Given the description of an element on the screen output the (x, y) to click on. 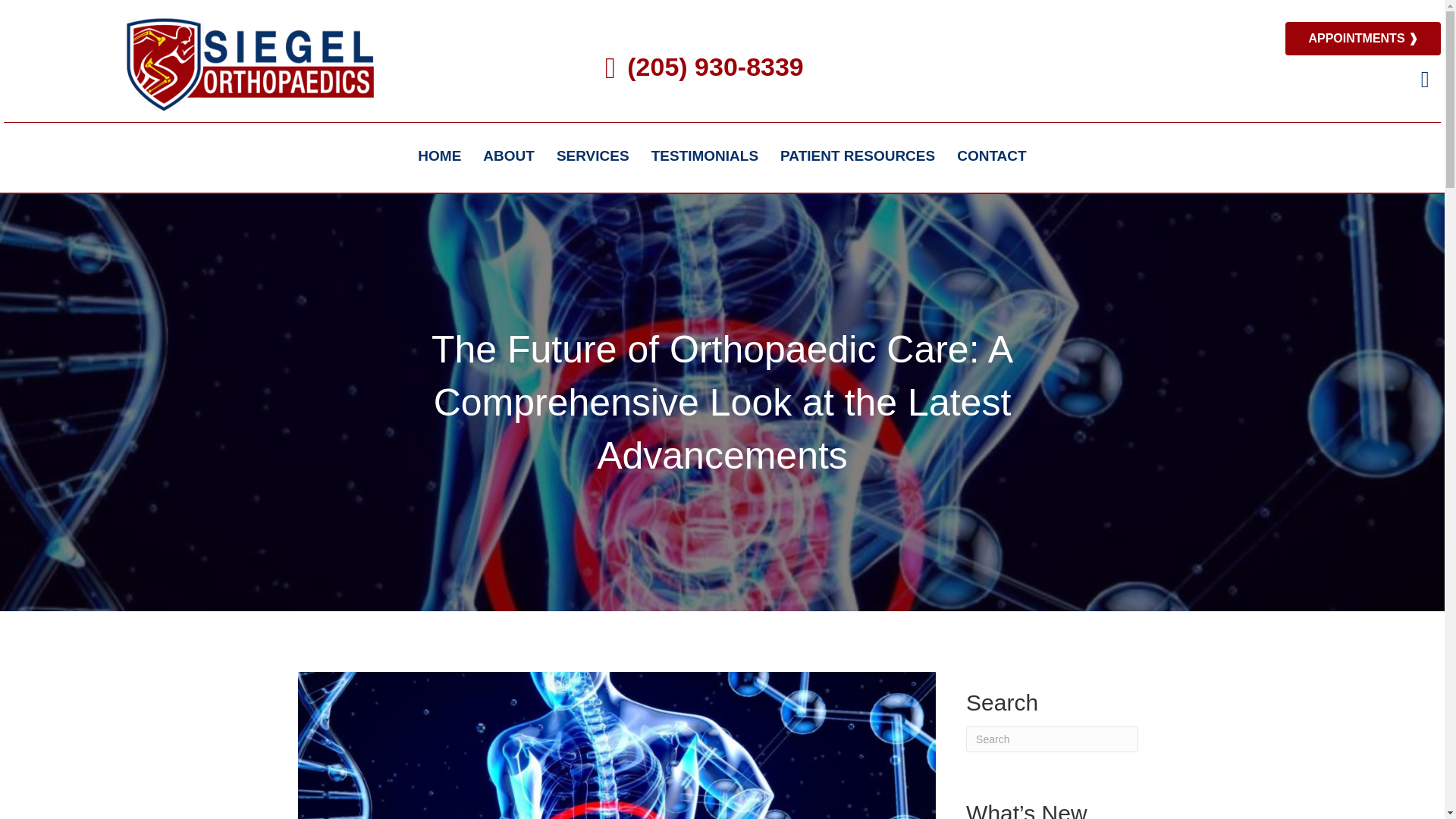
CONTACT (991, 155)
SERVICES (593, 155)
SO-Logo-1 (248, 62)
TESTIMONIALS (704, 155)
ABOUT (507, 155)
PATIENT RESOURCES (857, 155)
HOME (439, 155)
Type and press Enter to search. (1052, 739)
